Given the description of an element on the screen output the (x, y) to click on. 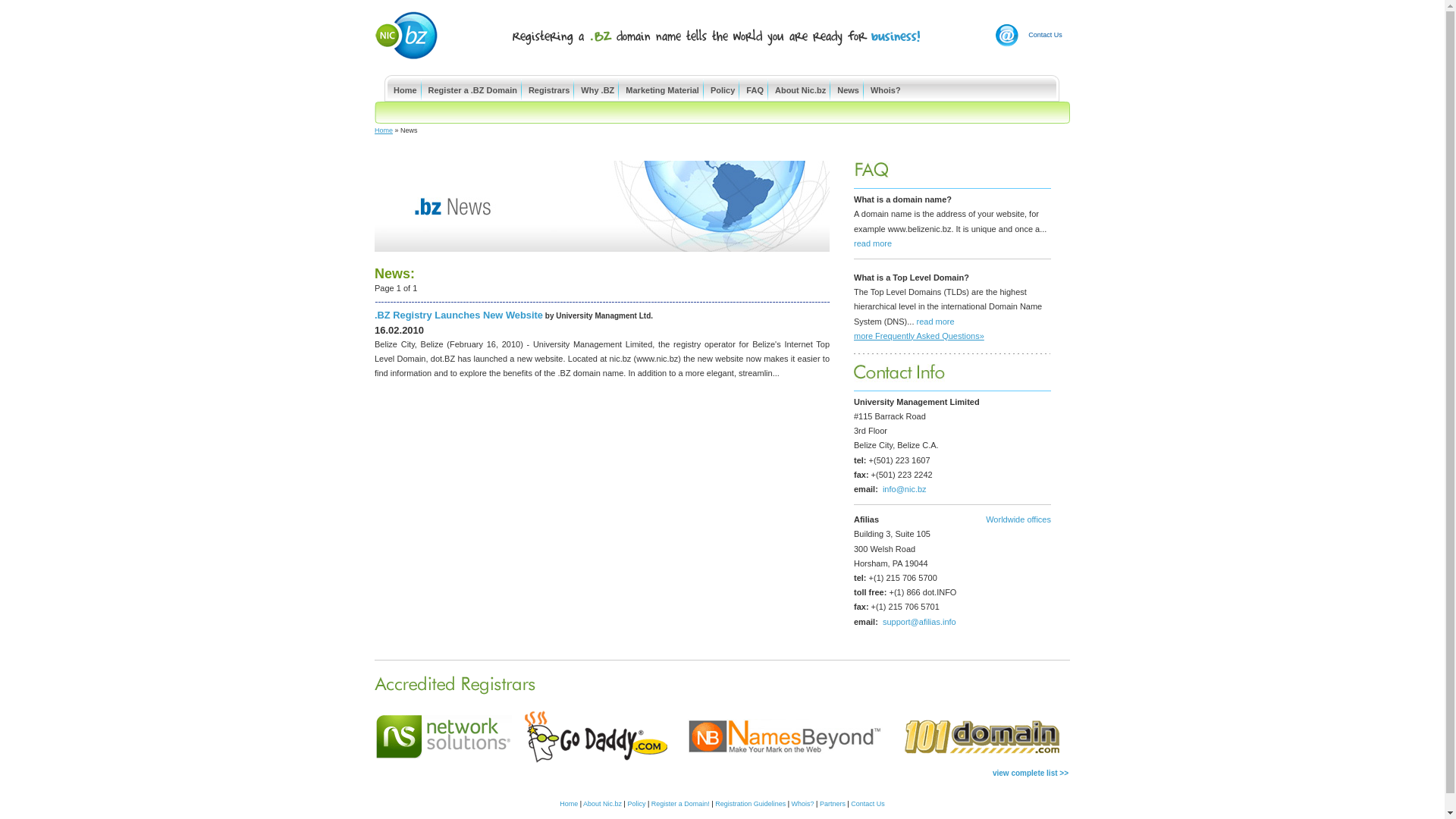
Contact Us Element type: text (1045, 34)
Policy Element type: text (722, 89)
Home Element type: text (383, 130)
Marketing Material Element type: text (661, 89)
News Element type: text (847, 89)
Register a .BZ Domain Element type: text (472, 89)
read more Element type: text (872, 242)
view complete list >> Element type: text (1030, 772)
read more Element type: text (935, 321)
Whois? Element type: text (885, 89)
About Nic.bz Element type: text (602, 803)
Why .BZ Element type: text (597, 89)
support@afilias.info Element type: text (919, 621)
info@nic.bz Element type: text (904, 488)
Registrars Element type: text (548, 89)
Worldwide offices Element type: text (1018, 519)
.BZ Registry Launches New Website Element type: text (458, 314)
Registration Guidelines Element type: text (750, 803)
Policy Element type: text (636, 803)
Home Element type: text (404, 89)
Partners Element type: text (832, 803)
About Nic.bz Element type: text (800, 89)
Home Element type: text (568, 803)
Contact Us Element type: text (867, 803)
Register a Domain! Element type: text (680, 803)
FAQ Element type: text (754, 89)
Whois? Element type: text (802, 803)
